Given the description of an element on the screen output the (x, y) to click on. 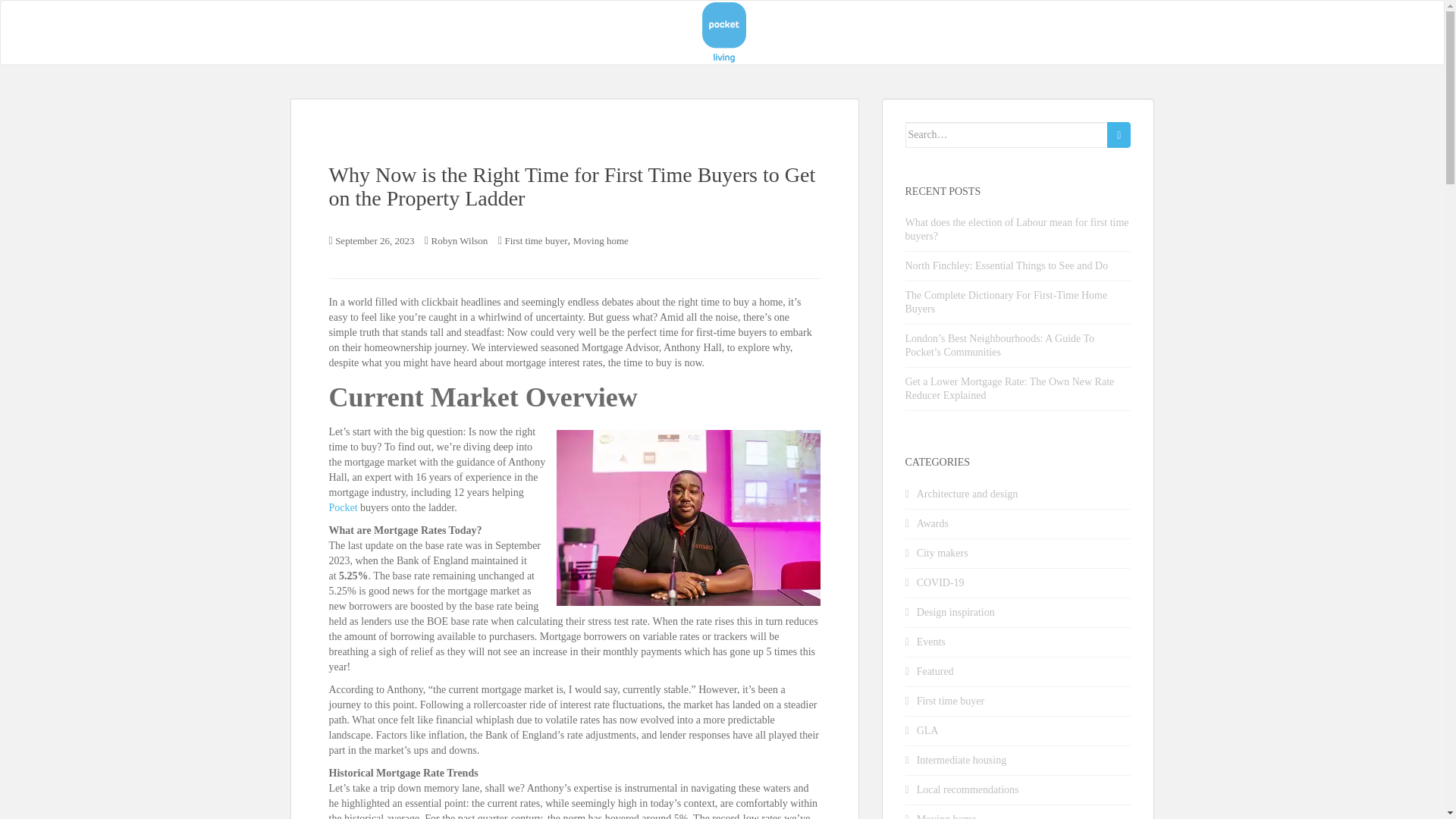
City makers (942, 552)
Robyn Wilson (458, 240)
Search for: (1006, 135)
First time buyer (535, 240)
GLA (928, 730)
Featured (935, 671)
The Complete Dictionary For First-Time Home Buyers (1006, 301)
Design inspiration (955, 612)
Architecture and design (967, 493)
Intermediate housing (962, 759)
North Finchley: Essential Things to See and Do (1006, 265)
First time buyer (950, 700)
Awards (933, 523)
Search (1118, 135)
